Given the description of an element on the screen output the (x, y) to click on. 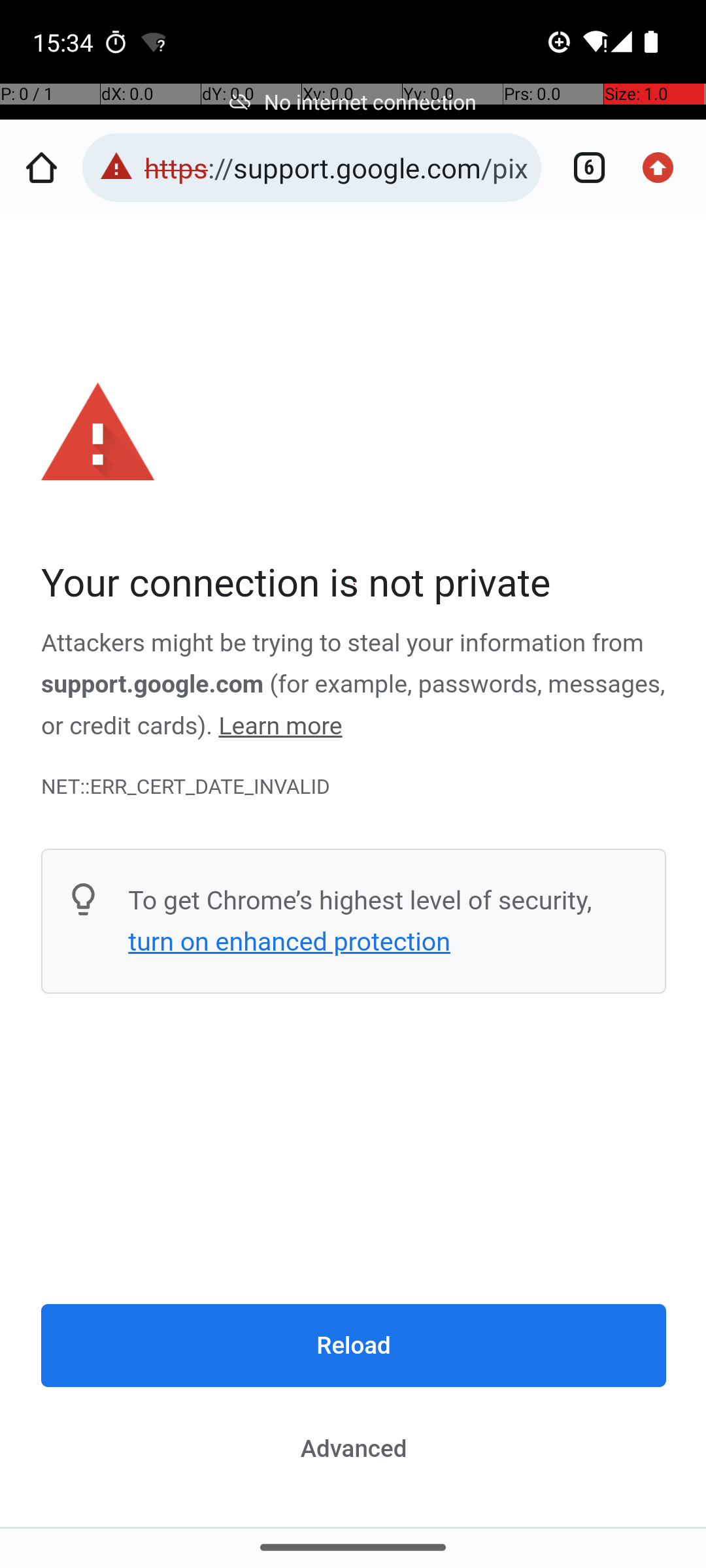
https://support.google.com/pixelphone?p=battery_usage Element type: android.widget.EditText (335, 167)
Update available. More options Element type: android.widget.ImageButton (664, 167)
support.google.com Element type: android.widget.TextView (152, 684)
